Given the description of an element on the screen output the (x, y) to click on. 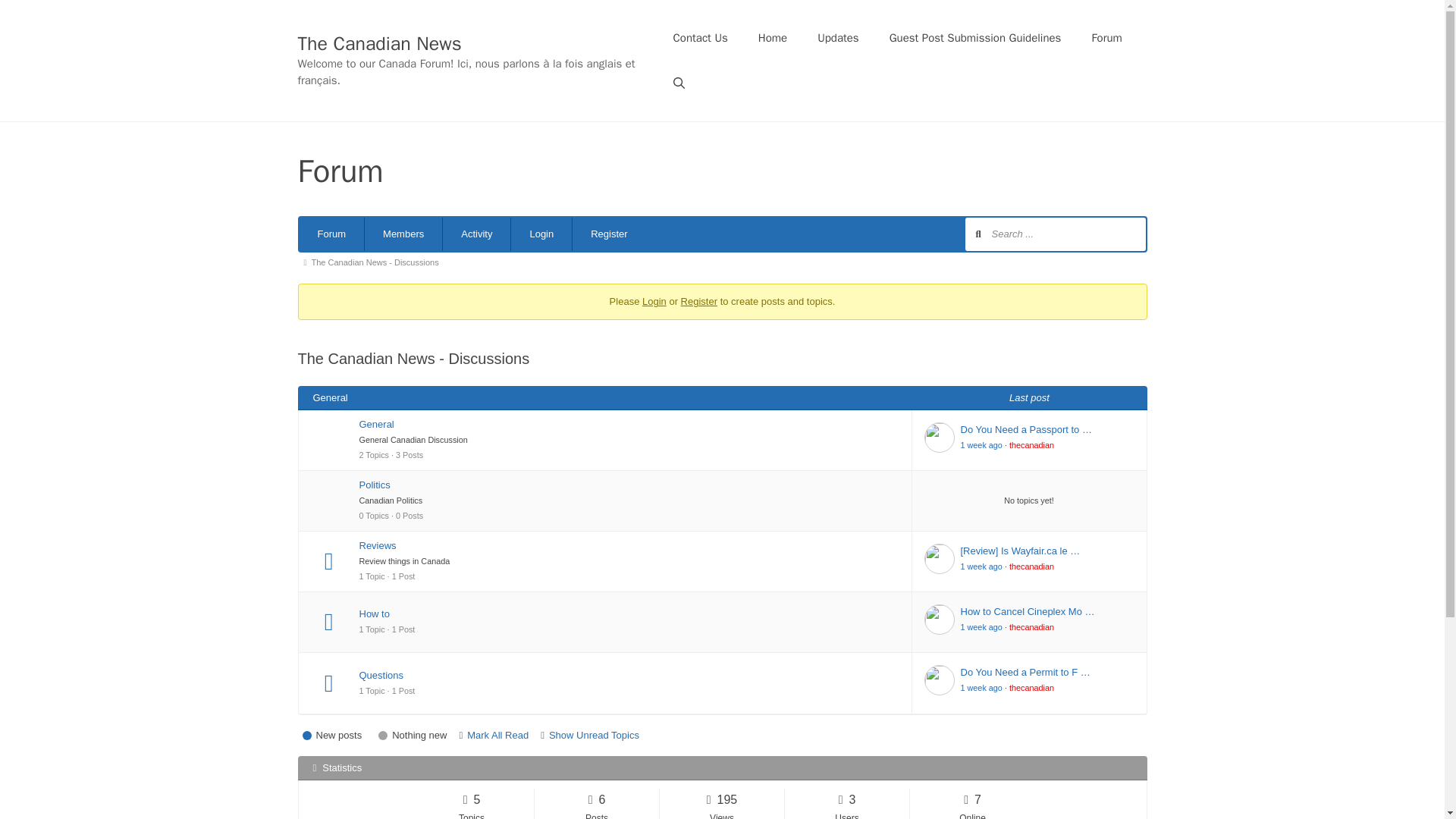
Forum (1106, 37)
Register (608, 233)
Updates (838, 37)
1 week ago (980, 565)
Register (699, 301)
1 week ago (980, 444)
Login (541, 233)
Reviews (629, 545)
thecanadian (1031, 444)
thecanadian (1031, 565)
General (629, 424)
The Canadian News - Discussions (377, 261)
Forum (331, 233)
Login (654, 301)
Contact Us (700, 37)
